Given the description of an element on the screen output the (x, y) to click on. 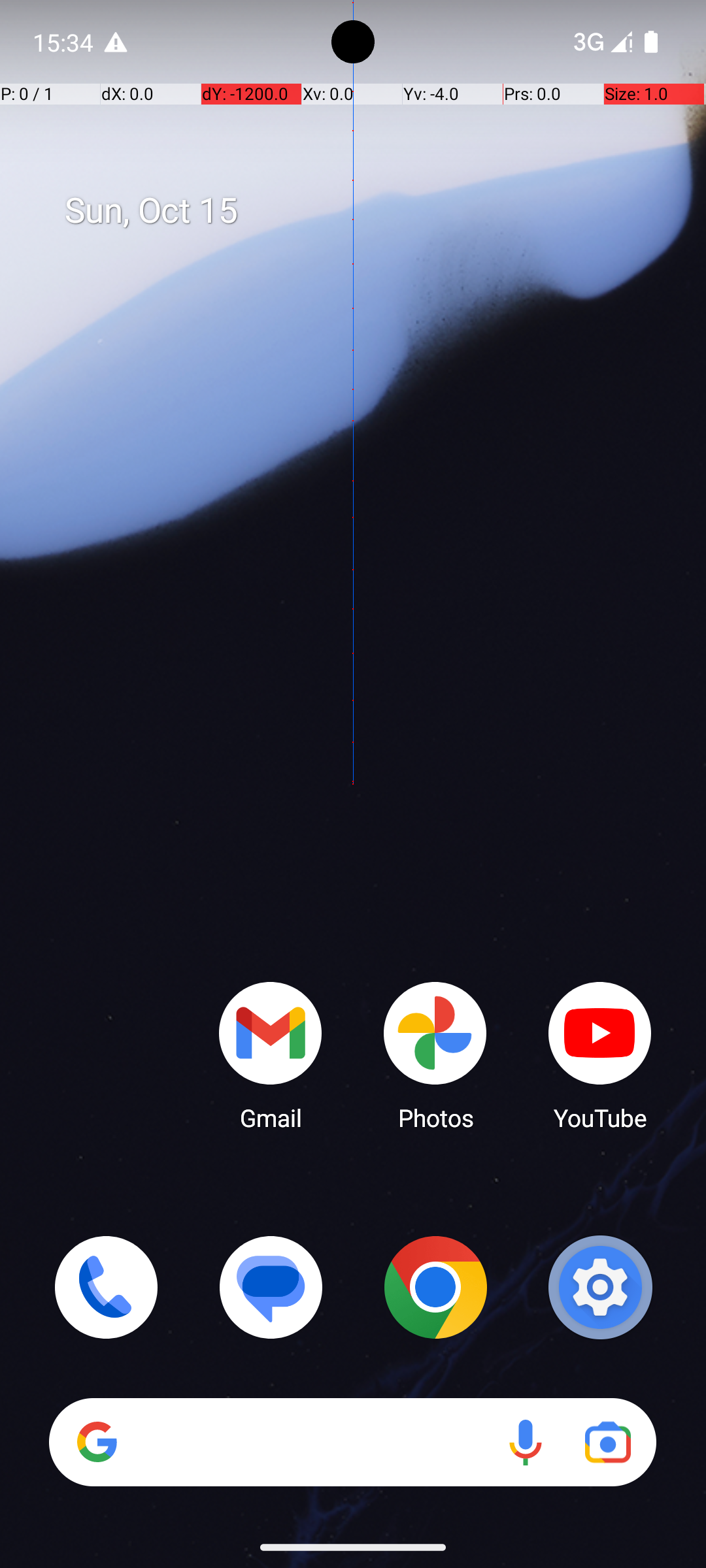
Home Element type: android.view.View (353, 804)
Phone Element type: android.widget.TextView (105, 1287)
Messages Element type: android.widget.TextView (270, 1287)
Chrome Element type: android.widget.TextView (435, 1287)
Settings Element type: android.widget.TextView (599, 1287)
Search Element type: android.widget.FrameLayout (352, 1442)
Sun, Oct 15 Element type: android.widget.TextView (366, 210)
Gmail Element type: android.widget.TextView (270, 1054)
Photos Element type: android.widget.TextView (435, 1054)
YouTube Element type: android.widget.TextView (599, 1054)
Google app Element type: android.widget.ImageView (97, 1441)
Voice search Element type: android.widget.ImageView (525, 1442)
Google Lens Element type: android.widget.ImageButton (607, 1442)
